Given the description of an element on the screen output the (x, y) to click on. 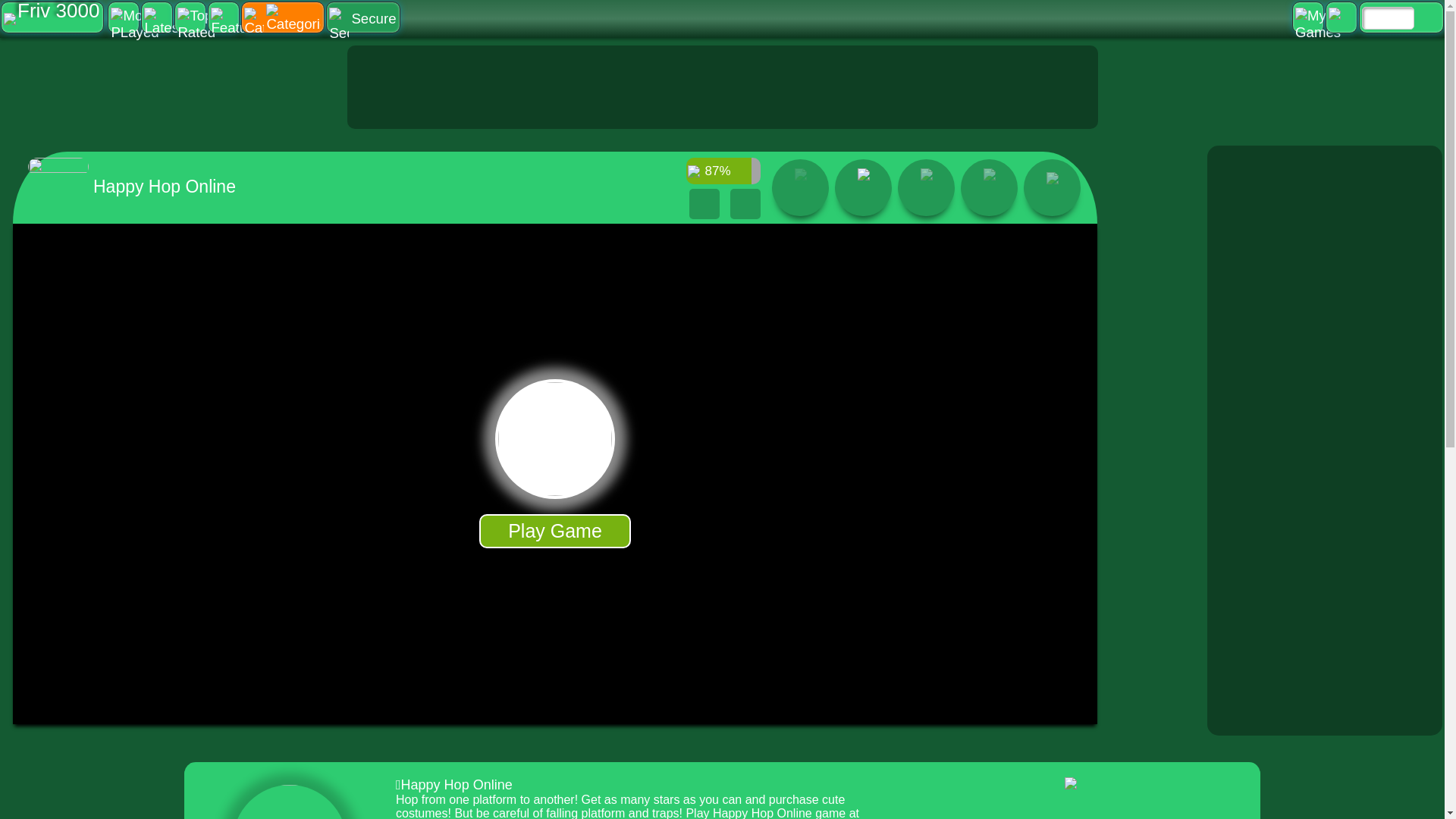
Play Game (554, 530)
Friv 3000 (52, 17)
Secure (362, 17)
